Given the description of an element on the screen output the (x, y) to click on. 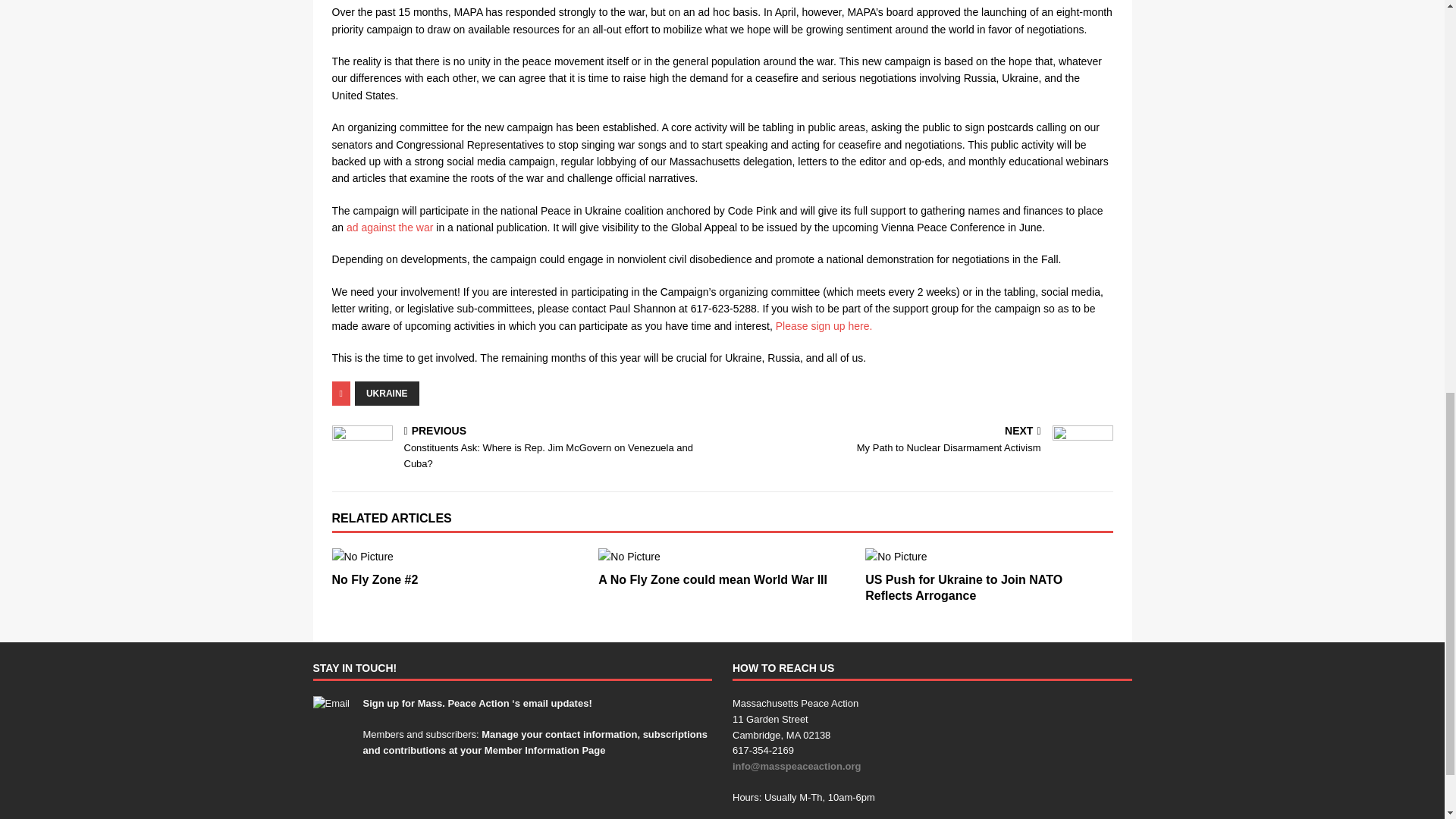
US Push for Ukraine to Join NATO Reflects Arrogance (963, 587)
A No Fly Zone could mean World War III (721, 556)
US Push for Ukraine to Join NATO Reflects Arrogance (988, 556)
A No Fly Zone could mean World War III (712, 579)
